Given the description of an element on the screen output the (x, y) to click on. 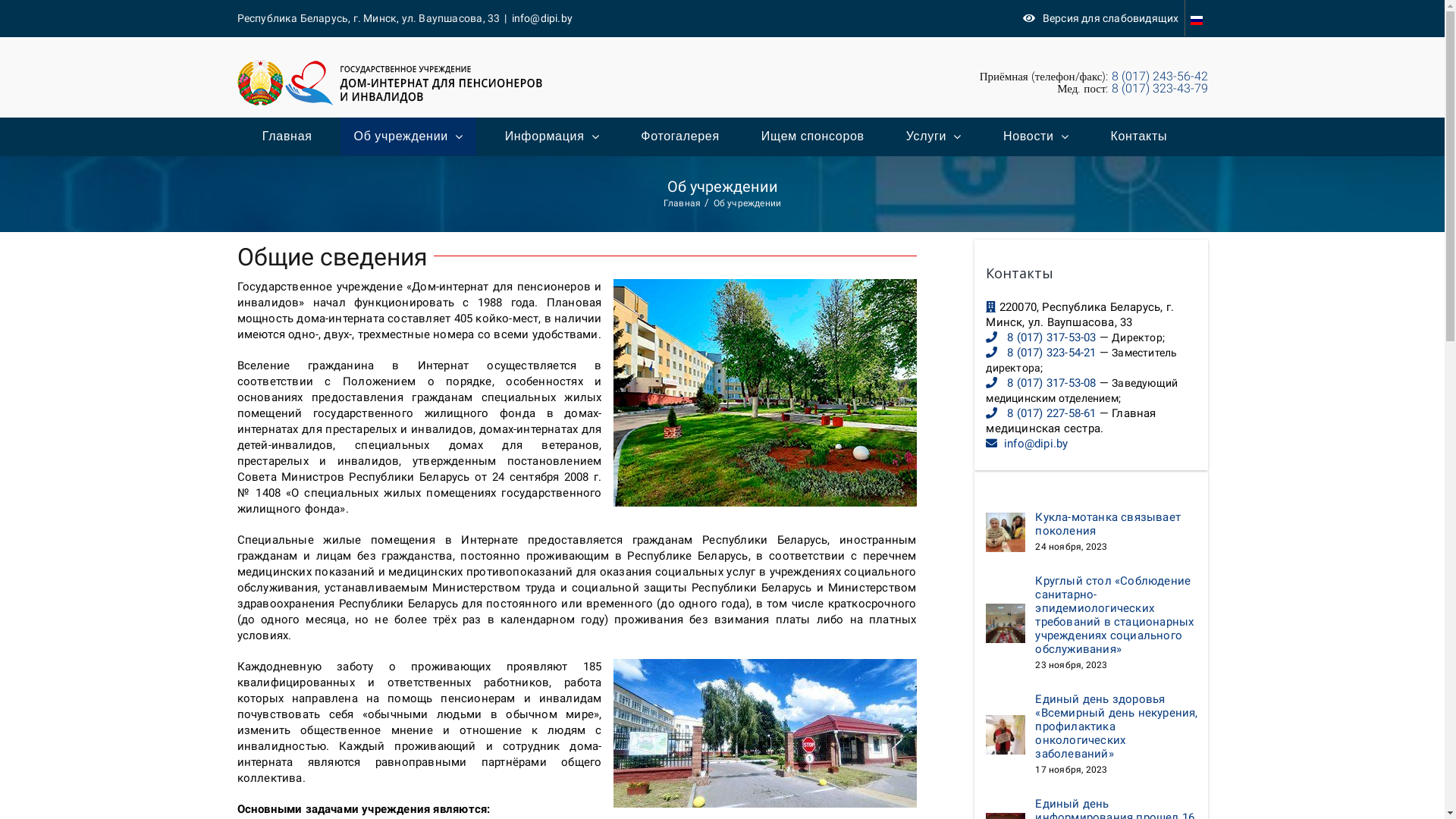
8 (017) 317-53-03 Element type: text (1051, 337)
8 (017) 317-53-08 Element type: text (1051, 382)
8 (017) 243-56-42 Element type: text (1159, 76)
Russian Element type: hover (1195, 18)
8 (017) 323-54-21 Element type: text (1051, 352)
info@dipi.by Element type: text (1035, 443)
8 (017) 323-43-79 Element type: text (1159, 88)
info@dipi.by Element type: text (541, 18)
8 (017) 227-58-61 Element type: text (1051, 413)
